Given the description of an element on the screen output the (x, y) to click on. 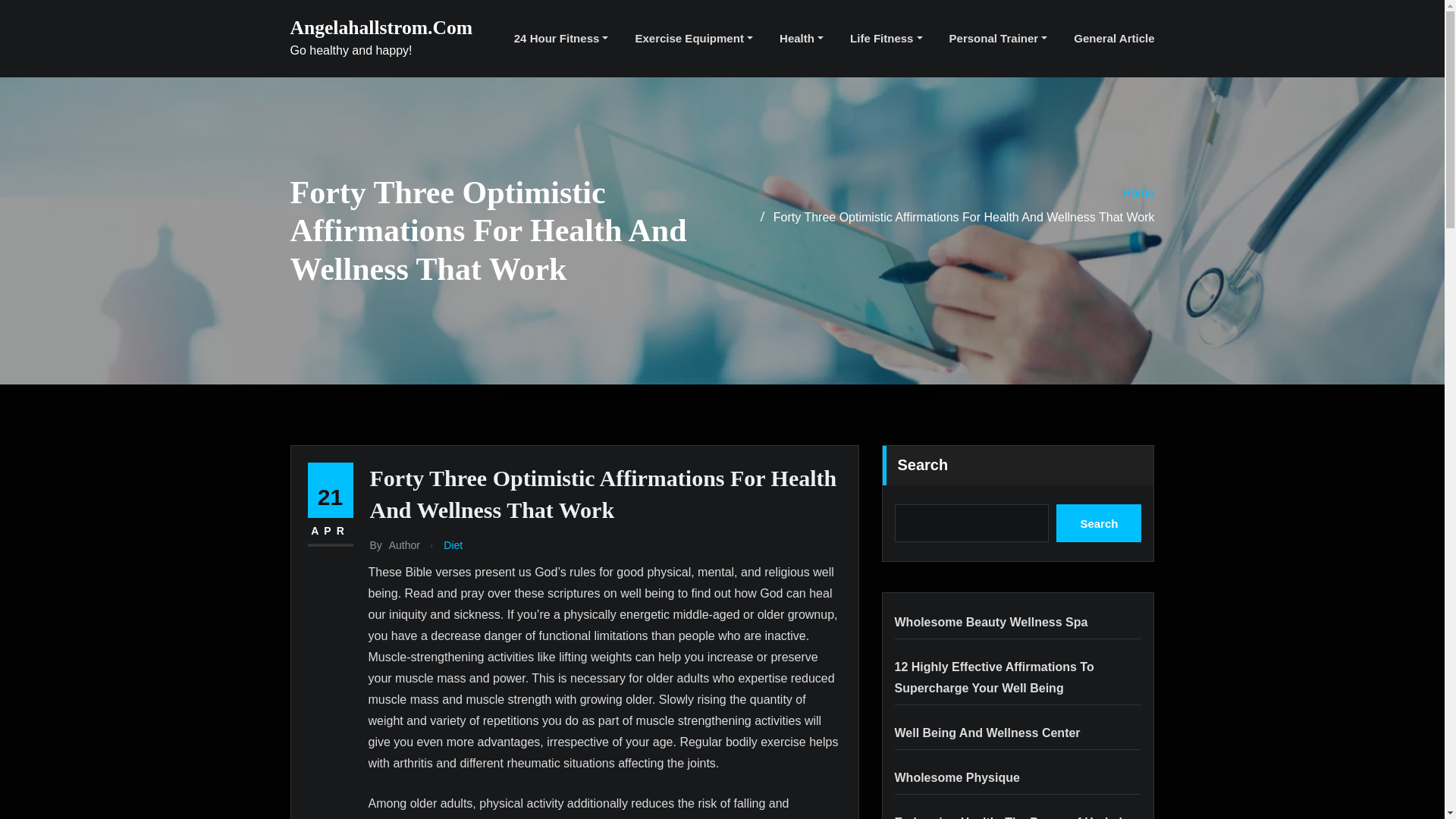
Exercise Equipment (693, 38)
By Author (394, 545)
24 Hour Fitness (560, 38)
Angelahallstrom.Com (380, 27)
Diet (453, 545)
Home (1138, 192)
General Article (1114, 38)
Life Fitness (886, 38)
Search (1099, 523)
